Given the description of an element on the screen output the (x, y) to click on. 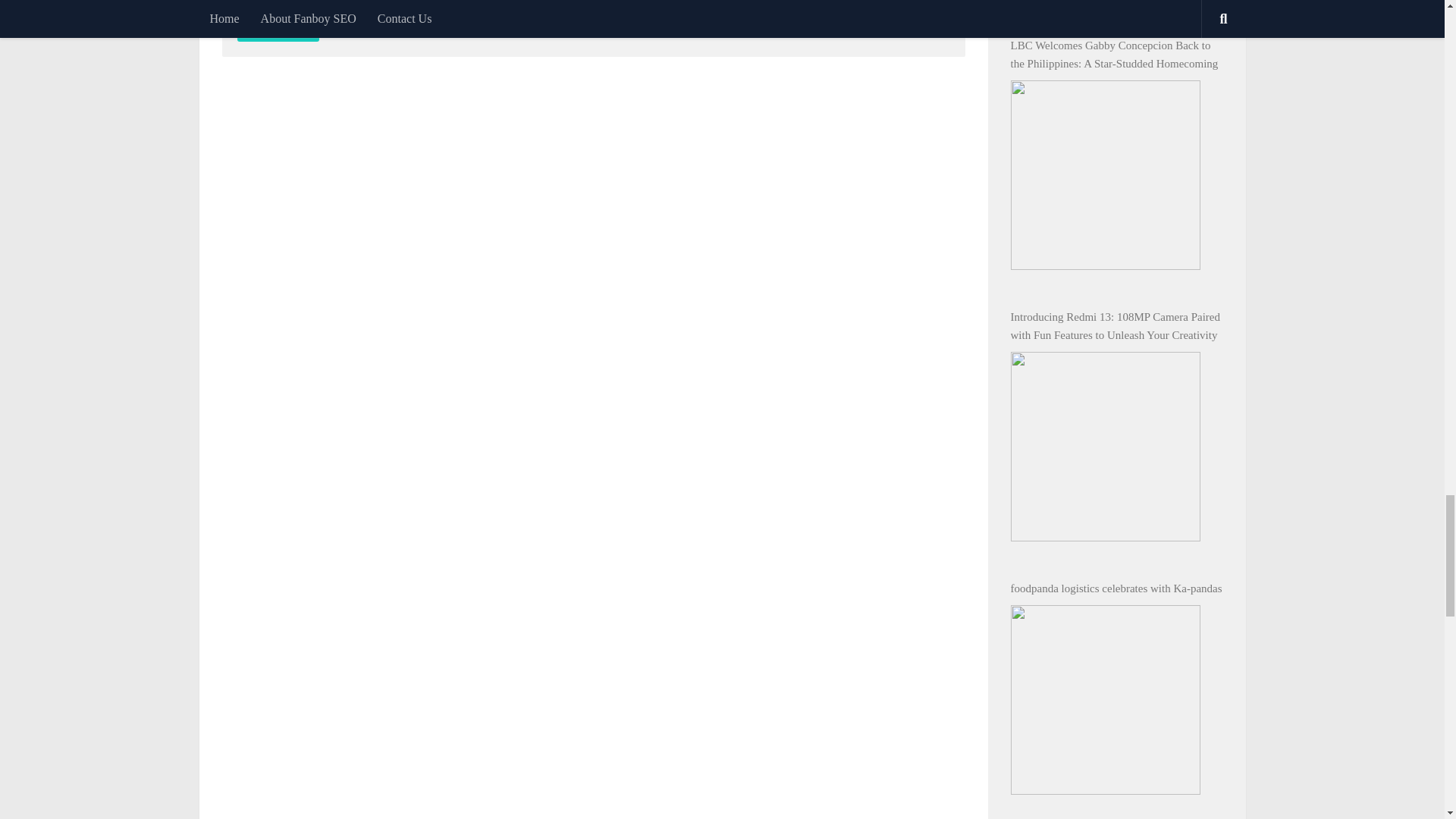
Post Comment (276, 27)
